Given the description of an element on the screen output the (x, y) to click on. 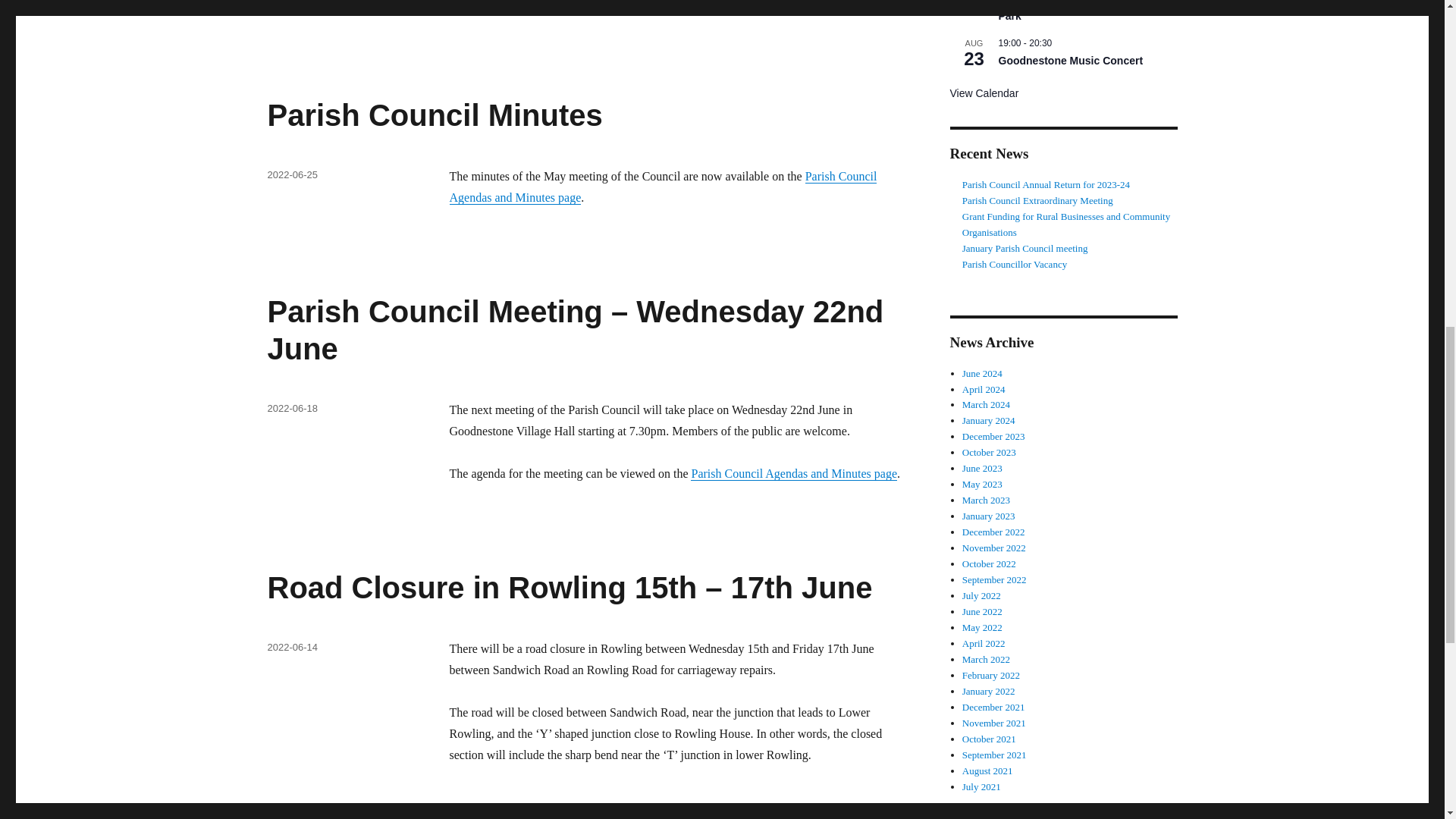
Goodnestone Music Concert (1069, 60)
View more events. (983, 92)
